Given the description of an element on the screen output the (x, y) to click on. 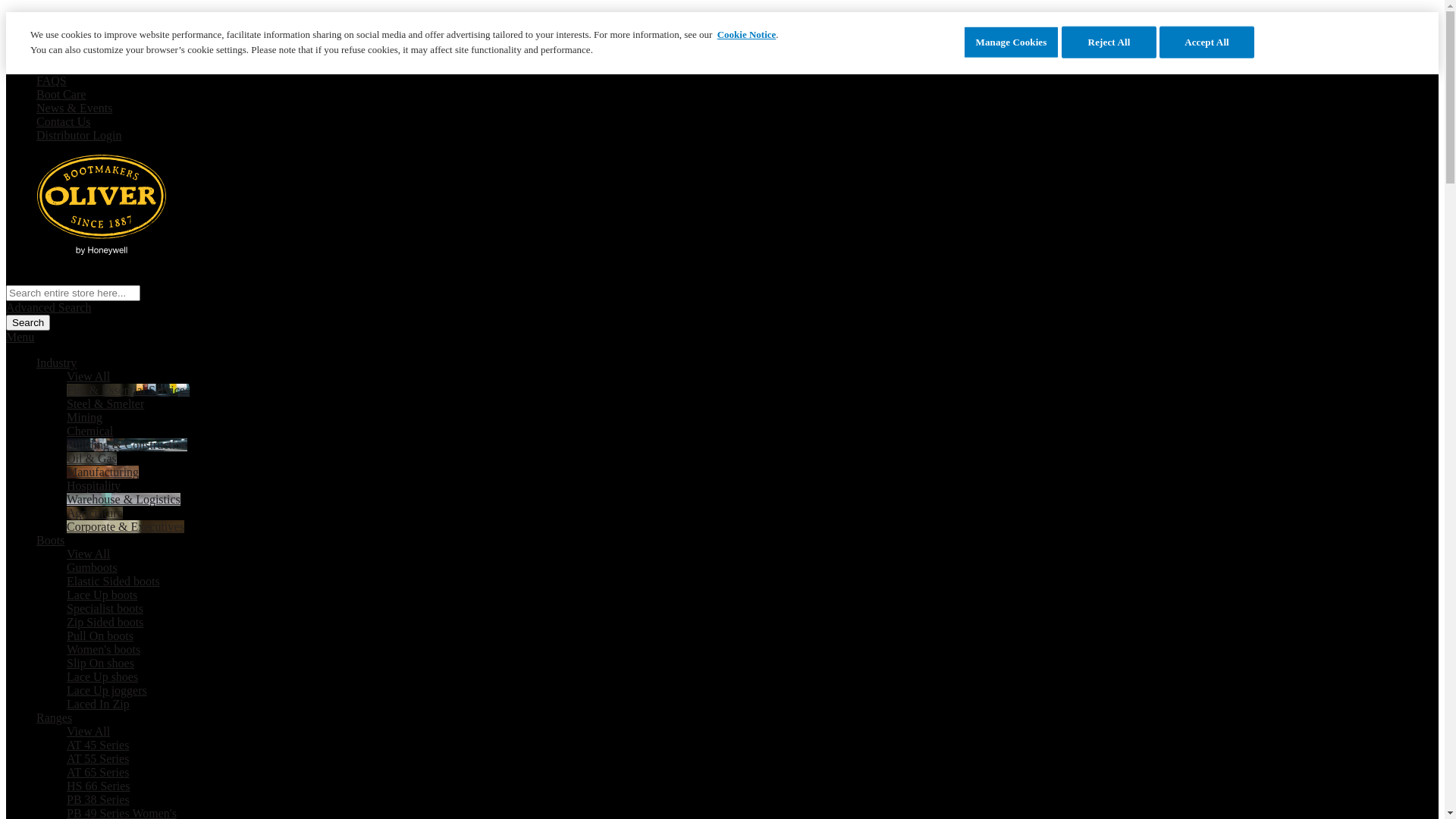
Mining Element type: text (84, 417)
Accept All Element type: text (1206, 42)
Steel & Smelter Element type: text (105, 403)
View All Element type: text (87, 553)
Manufacturing Element type: text (102, 471)
Oil & Gas Element type: text (91, 457)
Zip Sided boots Element type: text (104, 621)
Specialist boots Element type: text (104, 608)
PB 38 Series Element type: text (97, 799)
Slip On shoes Element type: text (100, 662)
News & Events Element type: text (74, 107)
Building & Construction Element type: text (126, 444)
Reject All Element type: text (1108, 42)
Hospitality Element type: text (93, 485)
AT 45 Series Element type: text (97, 744)
Boot Care Element type: text (60, 93)
Agriculture Element type: text (94, 512)
Industry Element type: text (56, 362)
Menu Element type: text (20, 336)
Boots Element type: text (50, 539)
Lace Up shoes Element type: text (102, 676)
AT 65 Series Element type: text (97, 771)
Manage Cookies Element type: text (1010, 42)
Women's boots Element type: text (103, 649)
Search Element type: text (28, 322)
Elastic Sided boots Element type: text (113, 580)
Pull On boots Element type: text (99, 635)
Lace Up boots Element type: text (101, 594)
View All Element type: text (87, 730)
Ranges Element type: text (54, 717)
FAQS Element type: text (51, 80)
AT 55 Series Element type: text (97, 758)
Chemical Element type: text (89, 430)
View All Element type: text (87, 376)
Warehouse & Logistics Element type: text (123, 498)
HS 66 Series Element type: text (98, 785)
Contact Us Element type: text (63, 121)
Fire & Essential Services Element type: text (127, 389)
Distributor Login Element type: text (78, 134)
Laced In Zip Element type: text (97, 703)
Advanced Search Element type: text (48, 307)
Gumboots Element type: text (91, 567)
Lace Up joggers Element type: text (106, 690)
Cookie Notice Element type: text (746, 34)
Corporate & Executives Element type: text (125, 526)
